Given the description of an element on the screen output the (x, y) to click on. 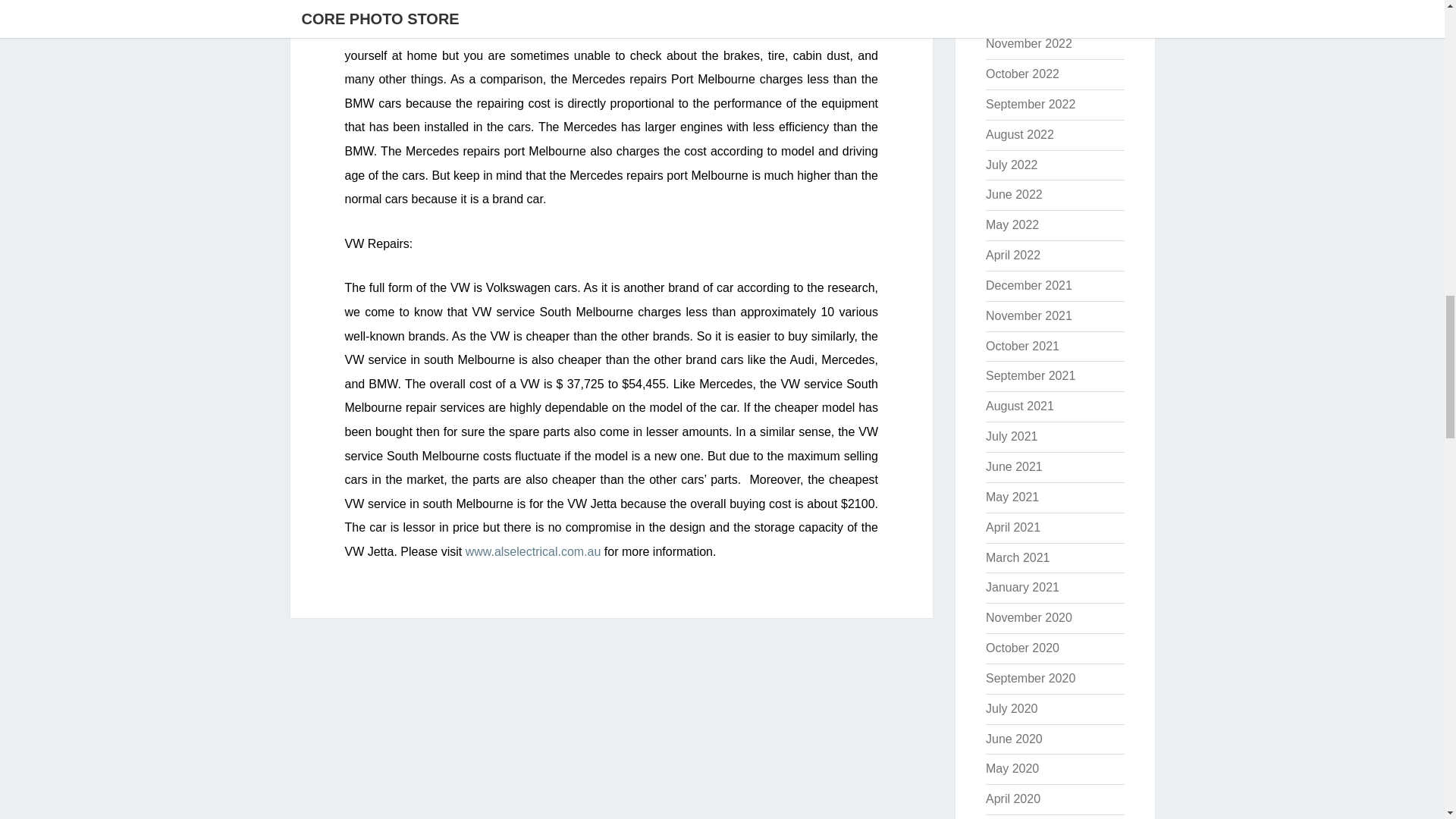
June 2022 (1013, 194)
www.alselectrical.com.au (533, 551)
April 2022 (1013, 254)
www.alselectrical.com.au (533, 551)
May 2022 (1012, 224)
October 2022 (1022, 73)
December 2022 (1028, 12)
September 2021 (1030, 375)
September 2022 (1030, 103)
November 2021 (1028, 315)
August 2021 (1019, 405)
December 2021 (1028, 285)
November 2022 (1028, 42)
October 2021 (1022, 345)
July 2022 (1011, 164)
